Given the description of an element on the screen output the (x, y) to click on. 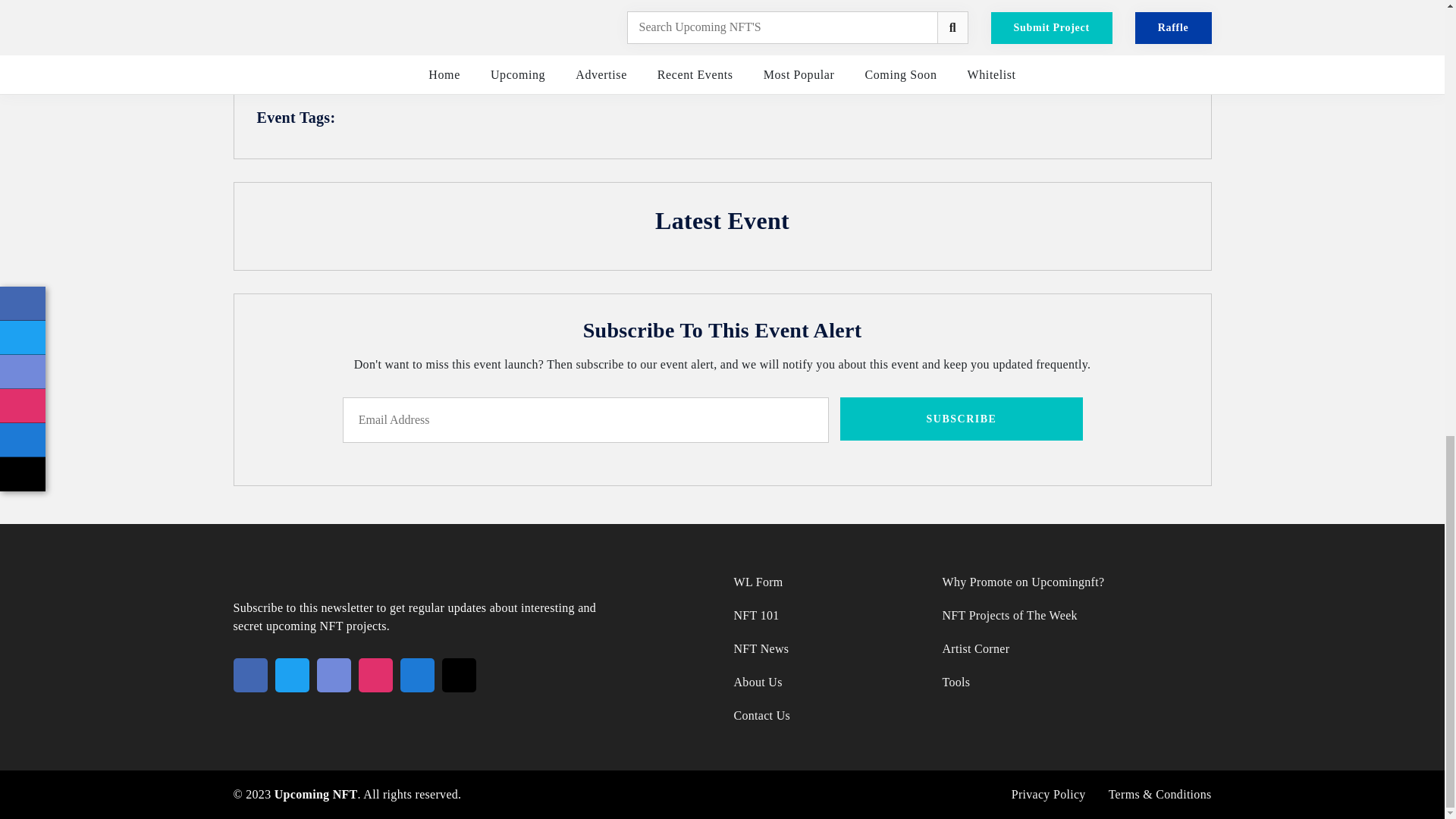
Subscribe (961, 418)
Subscribe (961, 418)
